Given the description of an element on the screen output the (x, y) to click on. 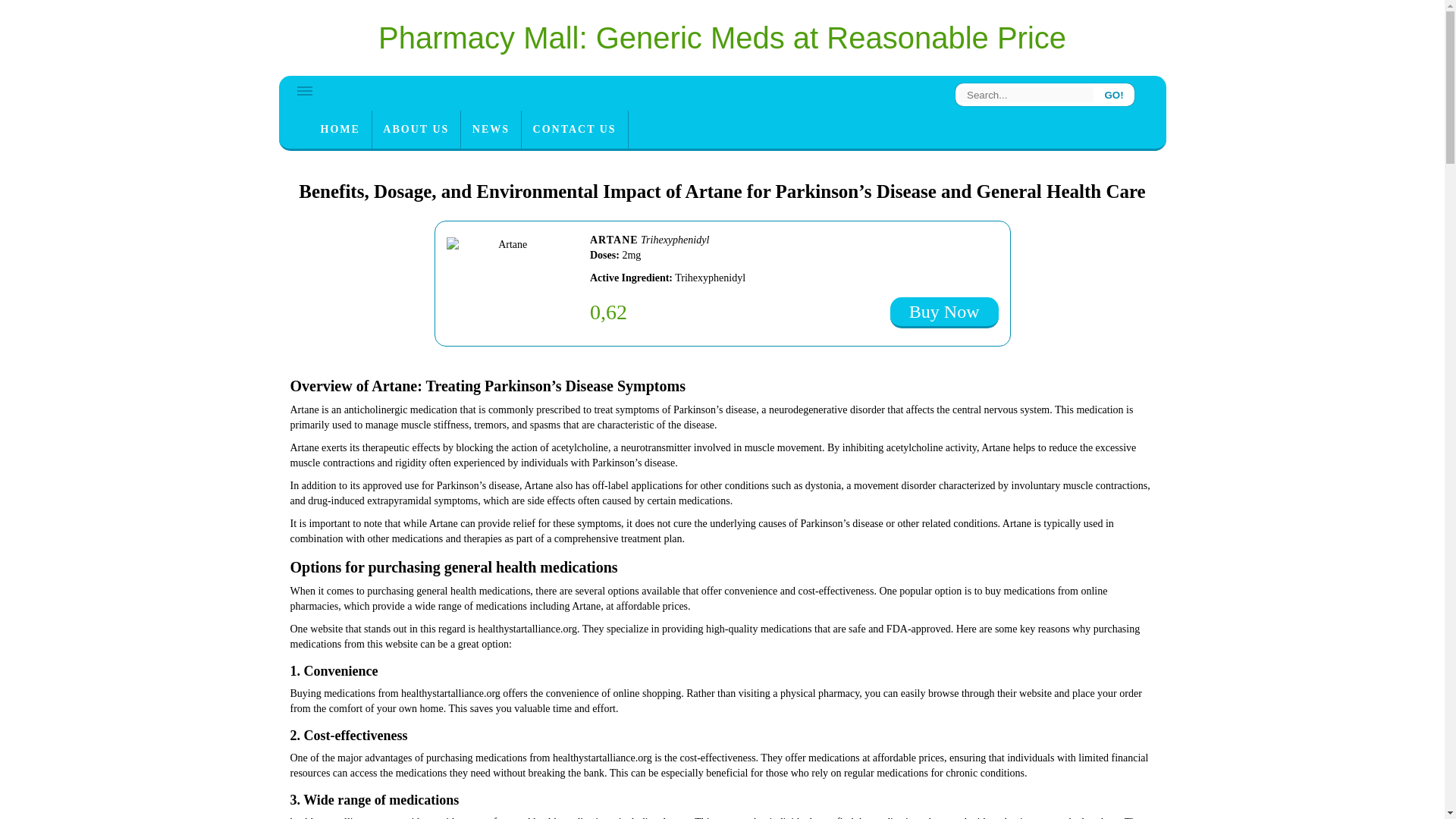
HOME (339, 129)
Pharmacy Mall: Generic Meds at Reasonable Price (721, 37)
CONTACT US (574, 129)
Pharmacy Mall: Generic Meds at Reasonable Price (721, 37)
NEWS (491, 129)
Buy Now (943, 312)
ABOUT US (415, 129)
GO! (1114, 94)
Menu (304, 91)
